Given the description of an element on the screen output the (x, y) to click on. 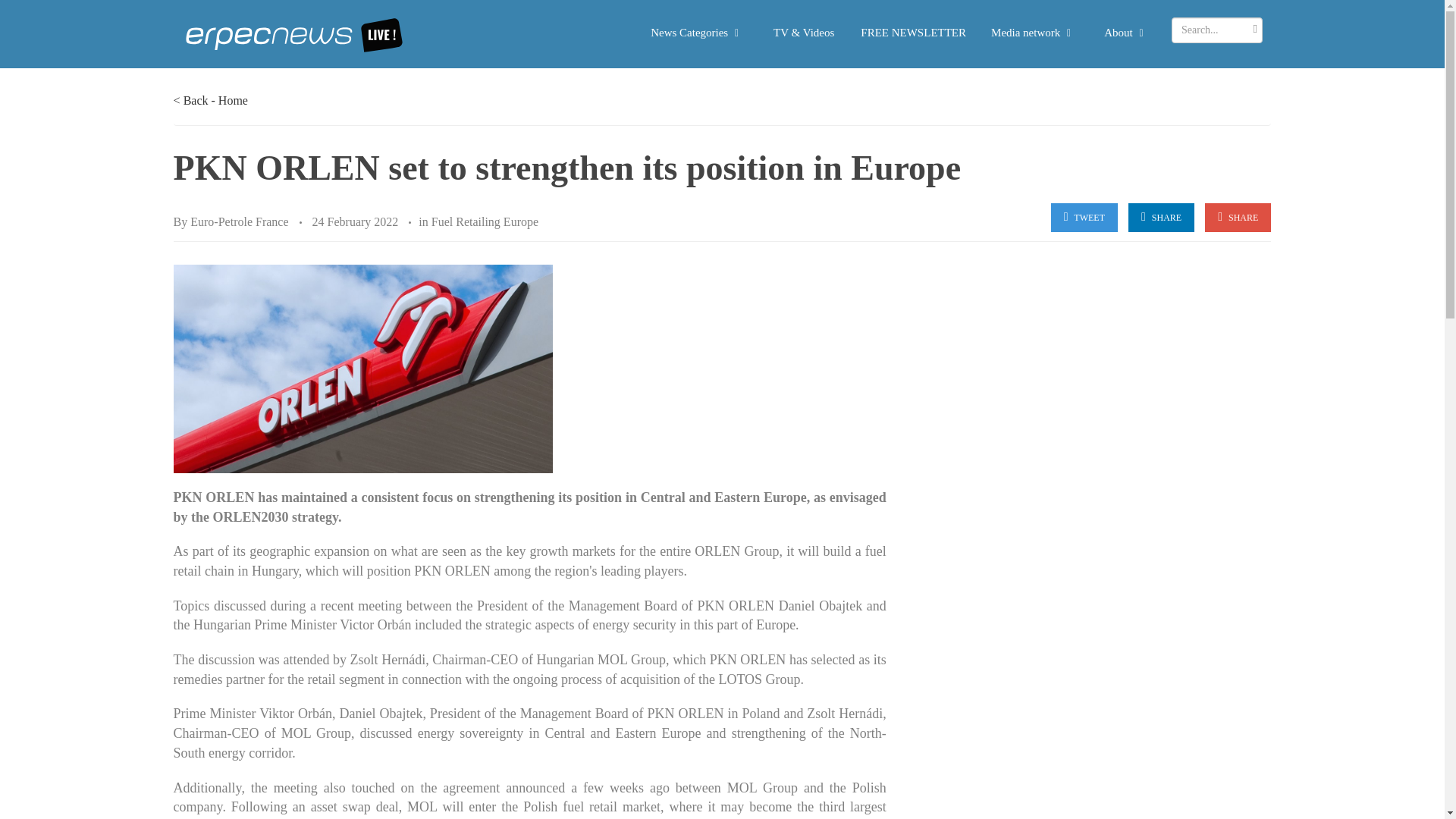
FREE NEWSLETTER (920, 31)
SHARE (1160, 217)
SHARE (1238, 217)
Home (232, 100)
TWEET (1084, 217)
